Given the description of an element on the screen output the (x, y) to click on. 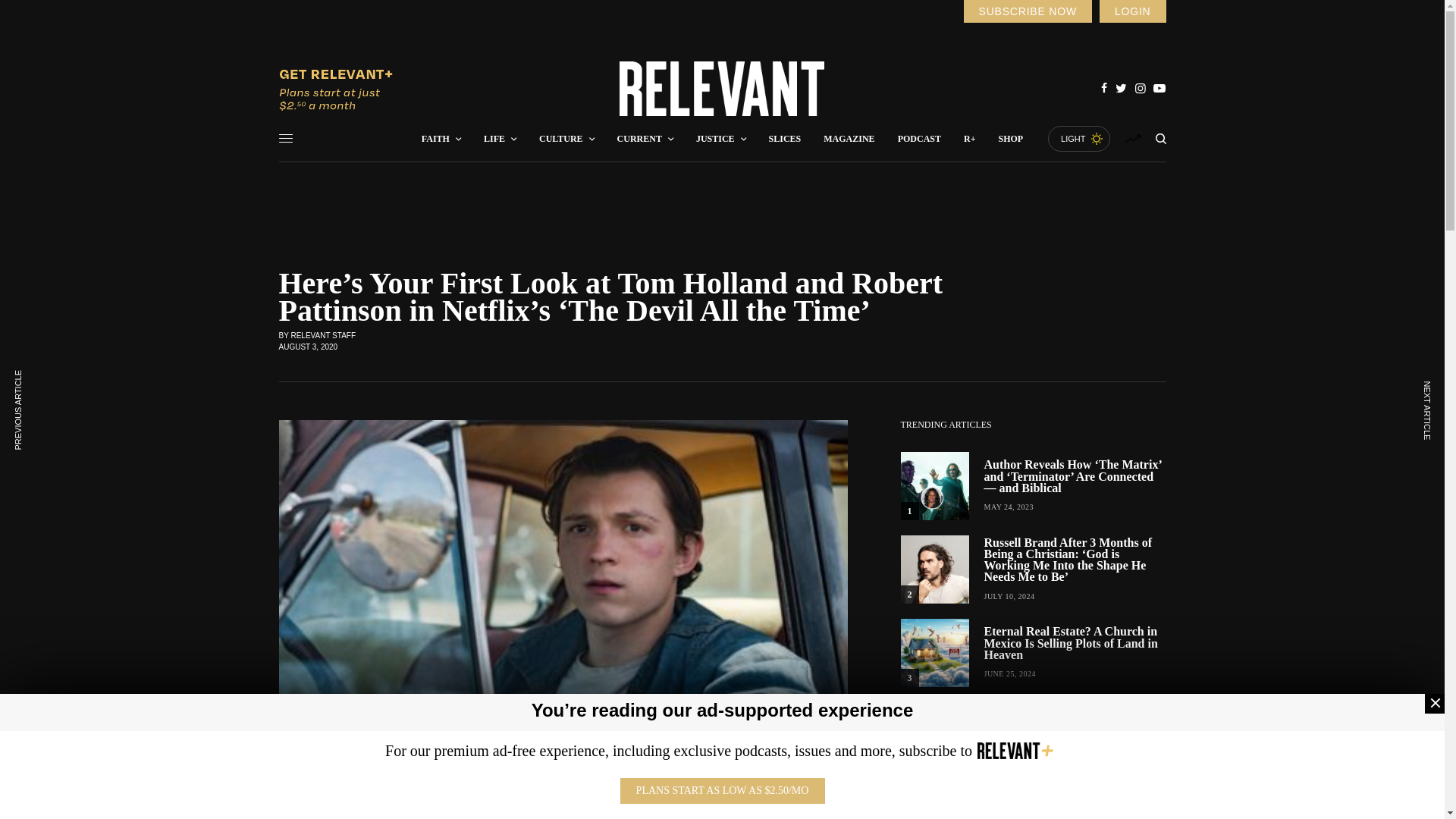
RELEVANT (722, 88)
SUBSCRIBE NOW (1026, 11)
LOGIN (1132, 11)
